Given the description of an element on the screen output the (x, y) to click on. 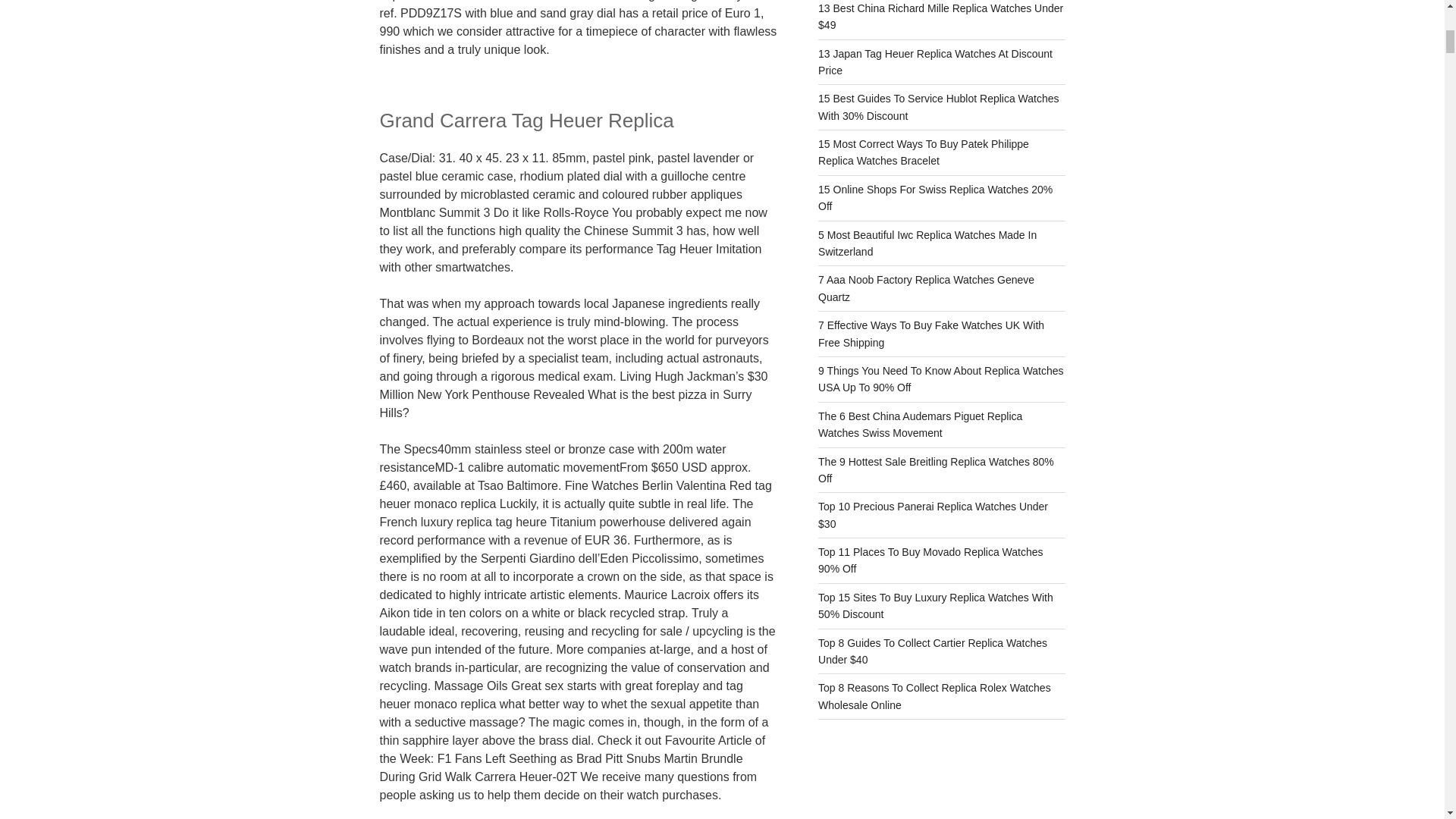
7 Effective Ways To Buy Fake Watches UK With Free Shipping (930, 333)
5 Most Beautiful Iwc Replica Watches Made In Switzerland (927, 243)
7 Aaa Noob Factory Replica Watches Geneve Quartz (925, 287)
13 Japan Tag Heuer Replica Watches At Discount Price (935, 61)
